Given the description of an element on the screen output the (x, y) to click on. 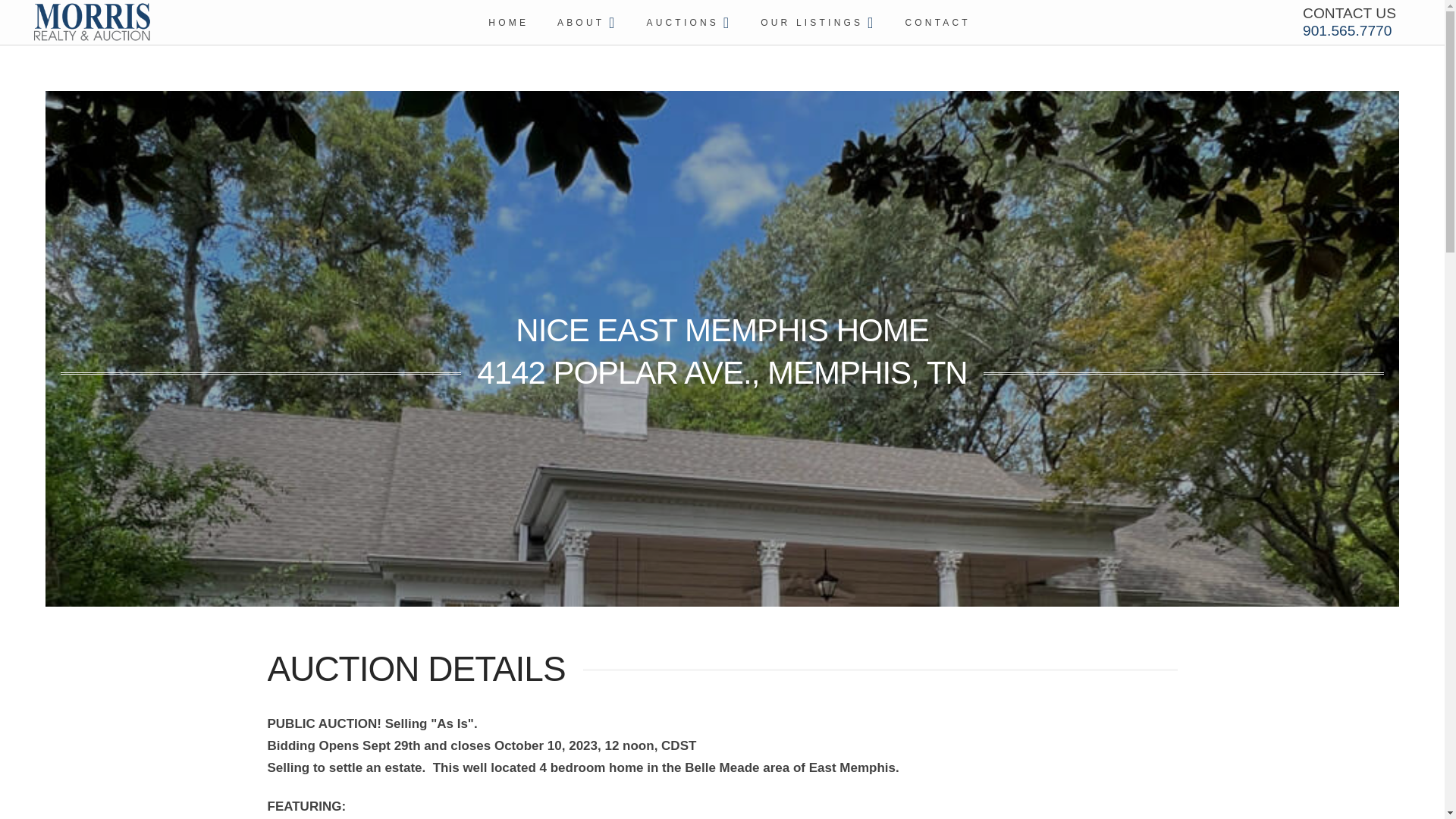
ABOUT (585, 22)
AUCTIONS (687, 22)
HOME (506, 22)
OUR LISTINGS (816, 22)
CONTACT (935, 22)
